Given the description of an element on the screen output the (x, y) to click on. 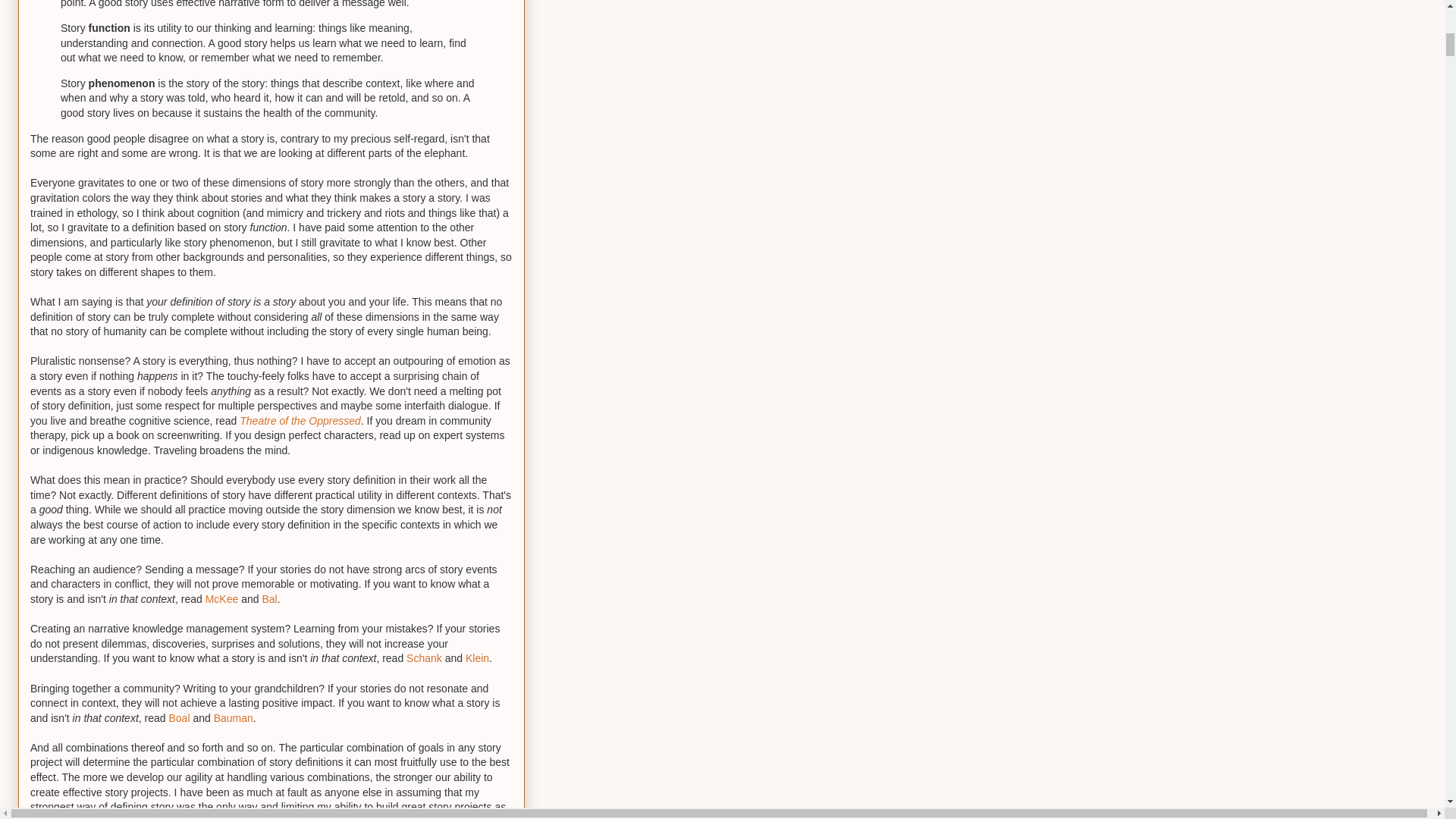
Theatre of the Oppressed (300, 420)
Klein (477, 657)
Boal (178, 717)
Bauman (233, 717)
McKee (221, 598)
Schank (424, 657)
Bal (269, 598)
